Given the description of an element on the screen output the (x, y) to click on. 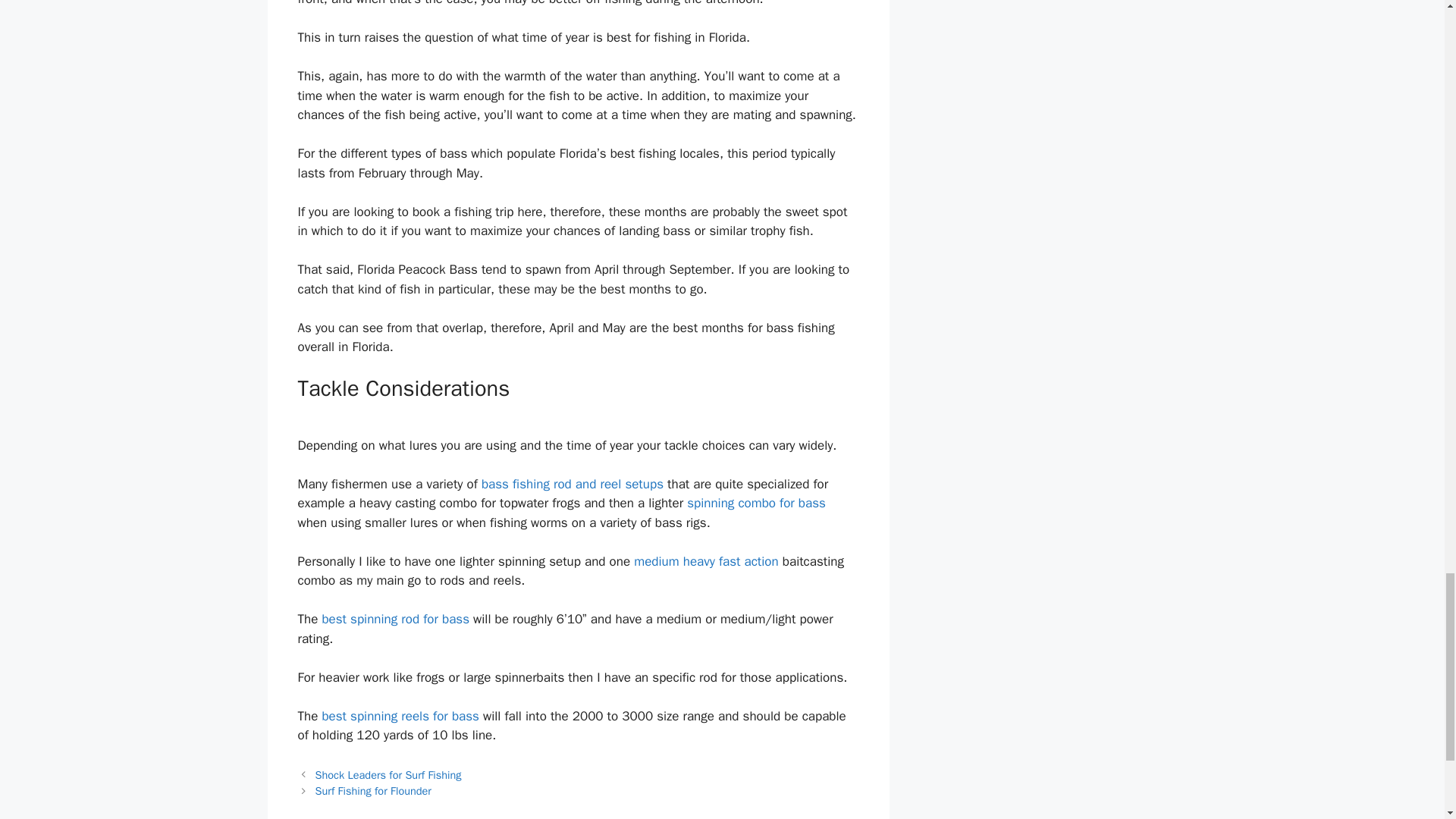
Surf Fishing for Flounder (372, 790)
Previous (388, 775)
spinning combo for bass (756, 503)
best spinning rod for bass (394, 618)
Next (372, 790)
medium heavy fast action (705, 561)
Shock Leaders for Surf Fishing (388, 775)
bass fishing rod and reel setups (572, 483)
best spinning reels for bass (400, 715)
